Given the description of an element on the screen output the (x, y) to click on. 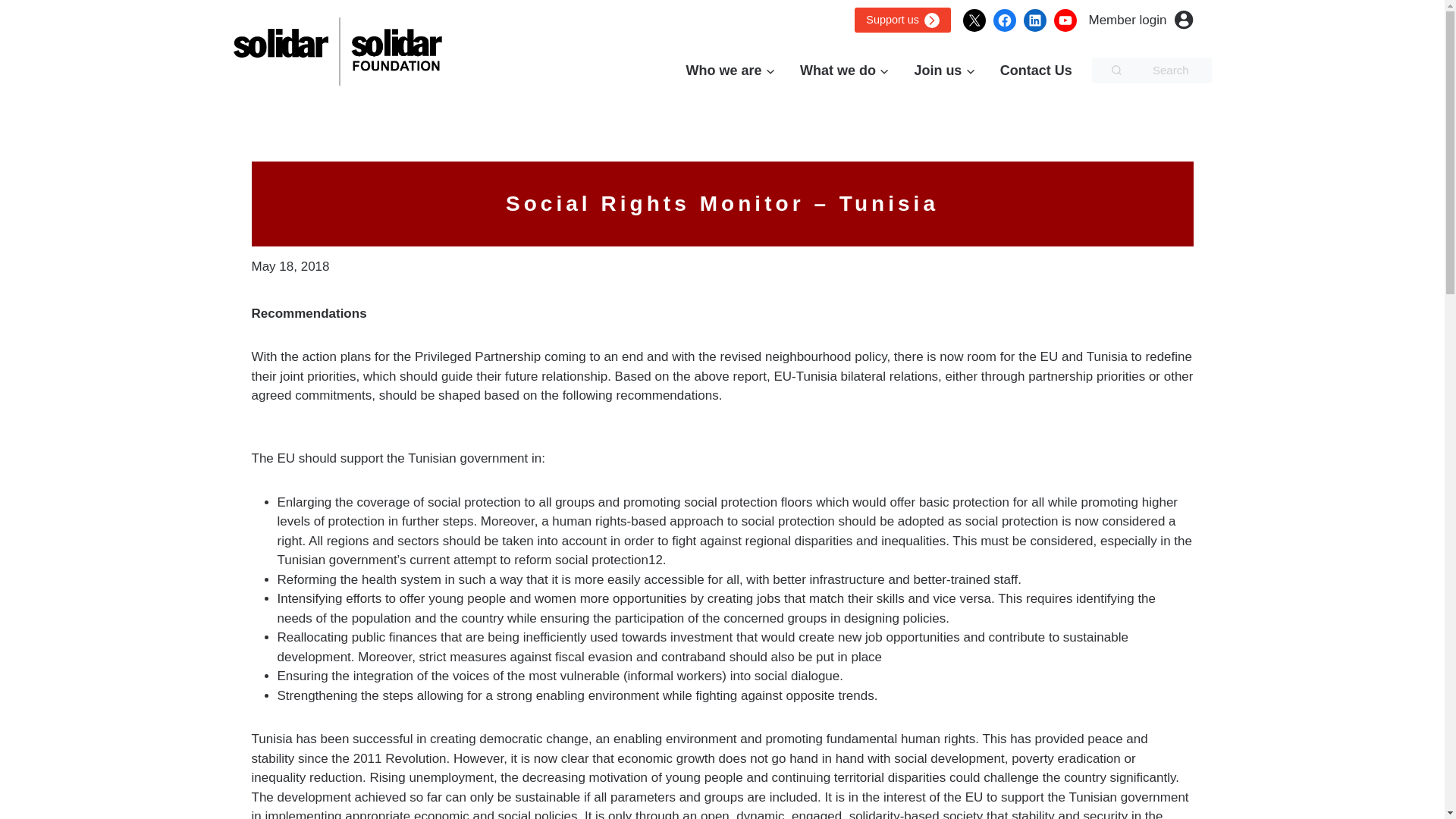
YouTube (1065, 20)
LinkedIn (1034, 20)
Who we are (729, 70)
Support us (902, 19)
Facebook (1004, 20)
Member login (1141, 20)
X (973, 20)
What we do (844, 70)
